Given the description of an element on the screen output the (x, y) to click on. 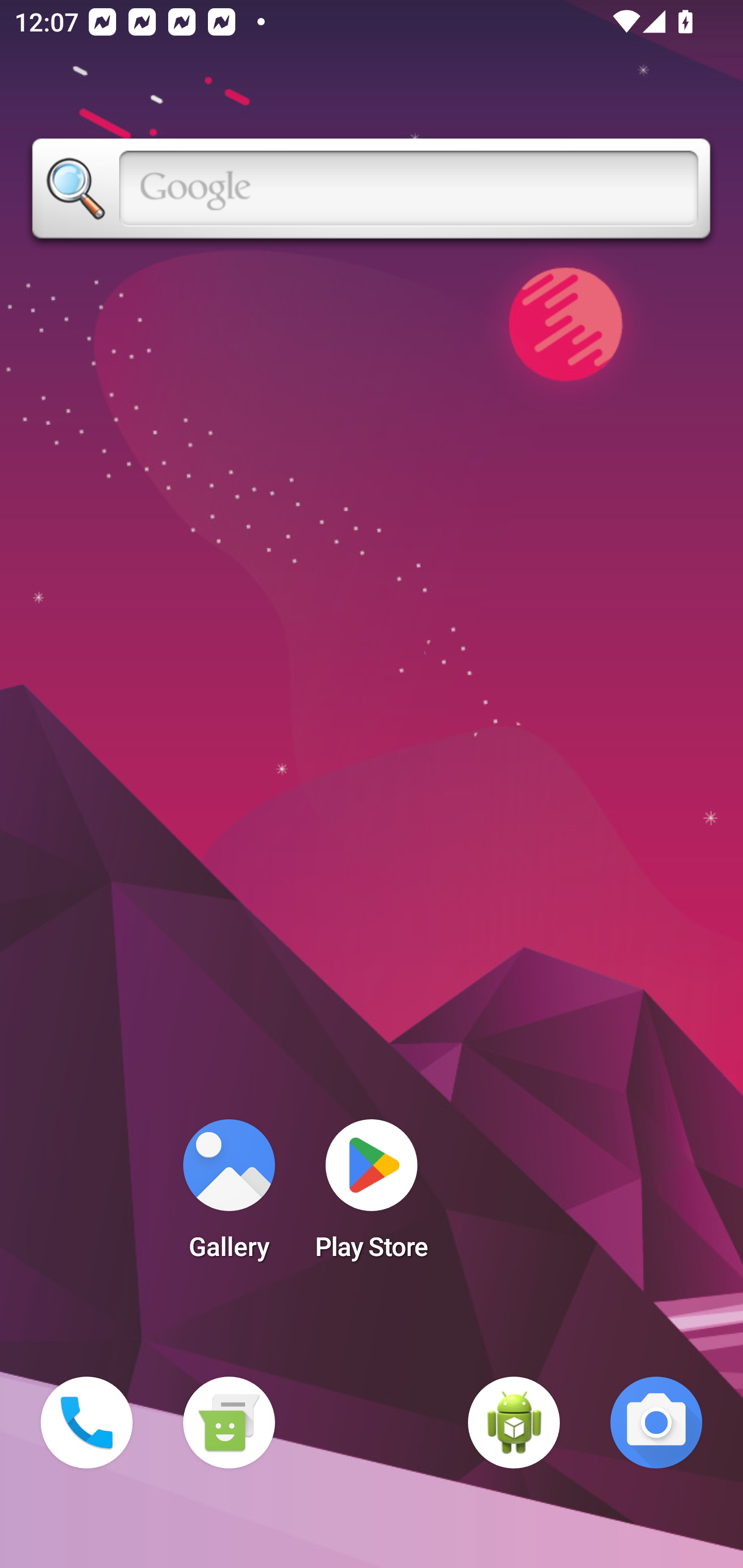
Gallery (228, 1195)
Play Store (371, 1195)
Phone (86, 1422)
Messaging (228, 1422)
WebView Browser Tester (513, 1422)
Camera (656, 1422)
